Given the description of an element on the screen output the (x, y) to click on. 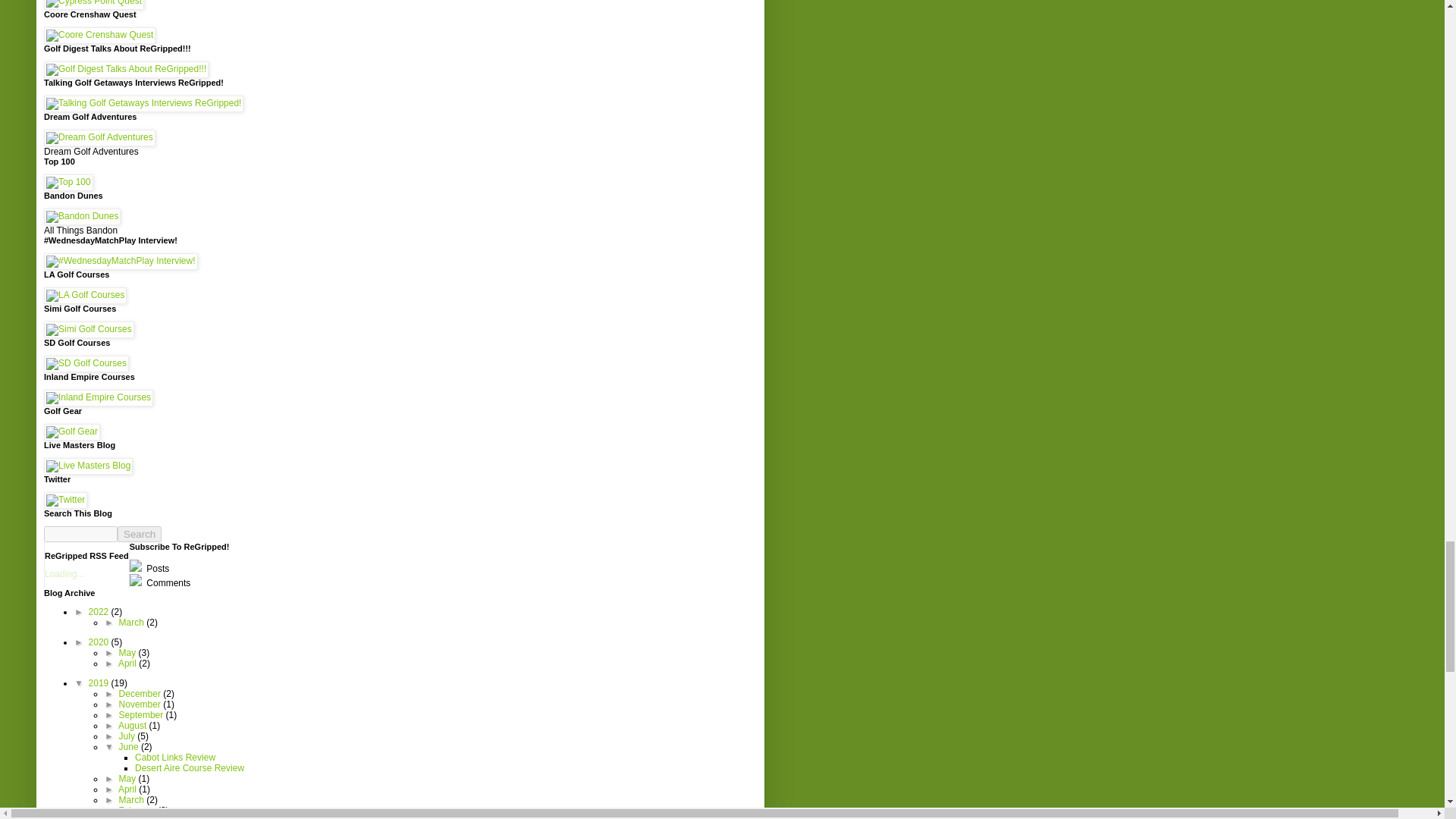
Search (139, 534)
search (139, 534)
search (80, 534)
Search (139, 534)
